Given the description of an element on the screen output the (x, y) to click on. 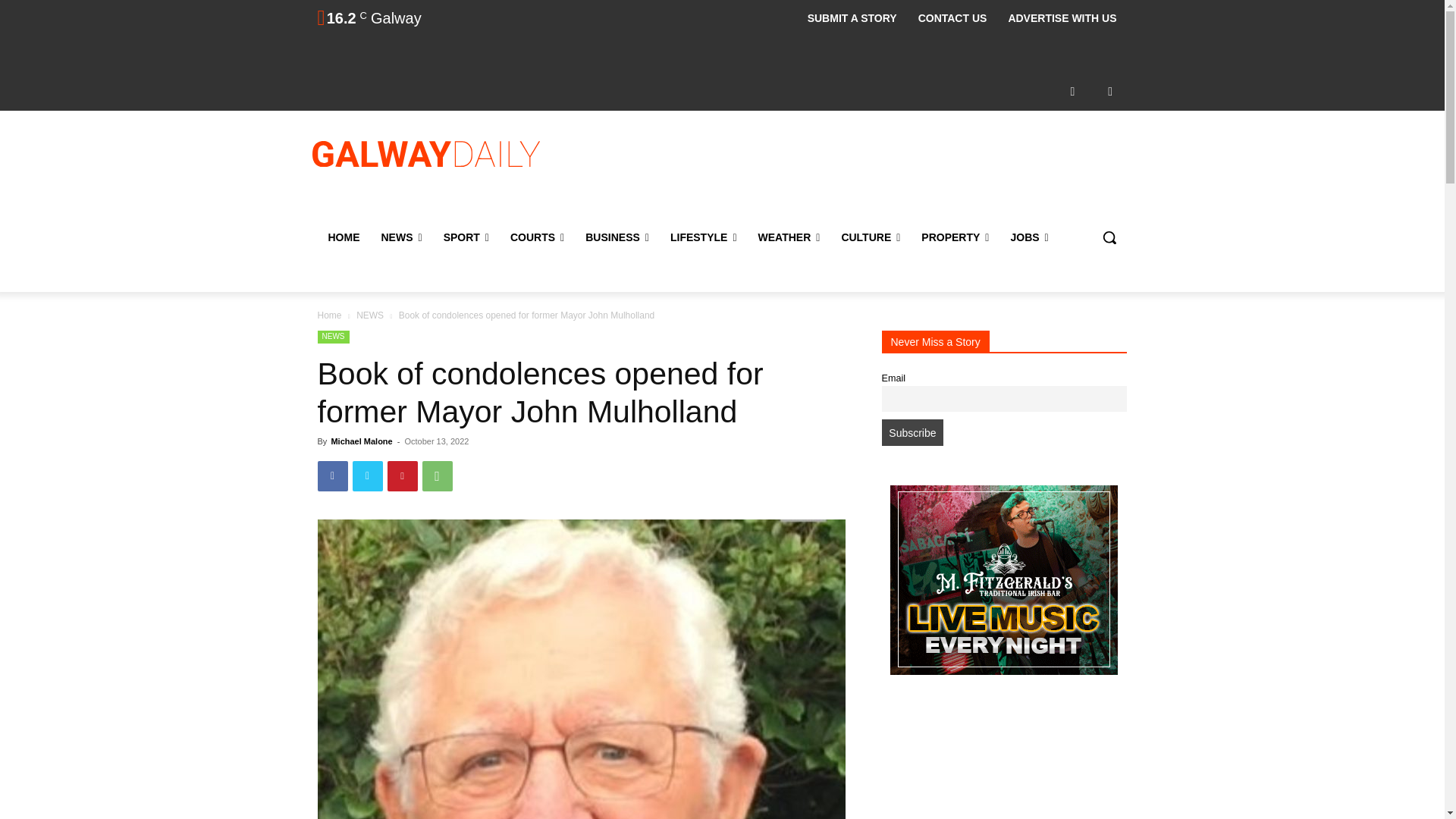
Subscribe (911, 432)
Advertisement (846, 172)
Facebook (1072, 91)
Twitter (1109, 91)
